Given the description of an element on the screen output the (x, y) to click on. 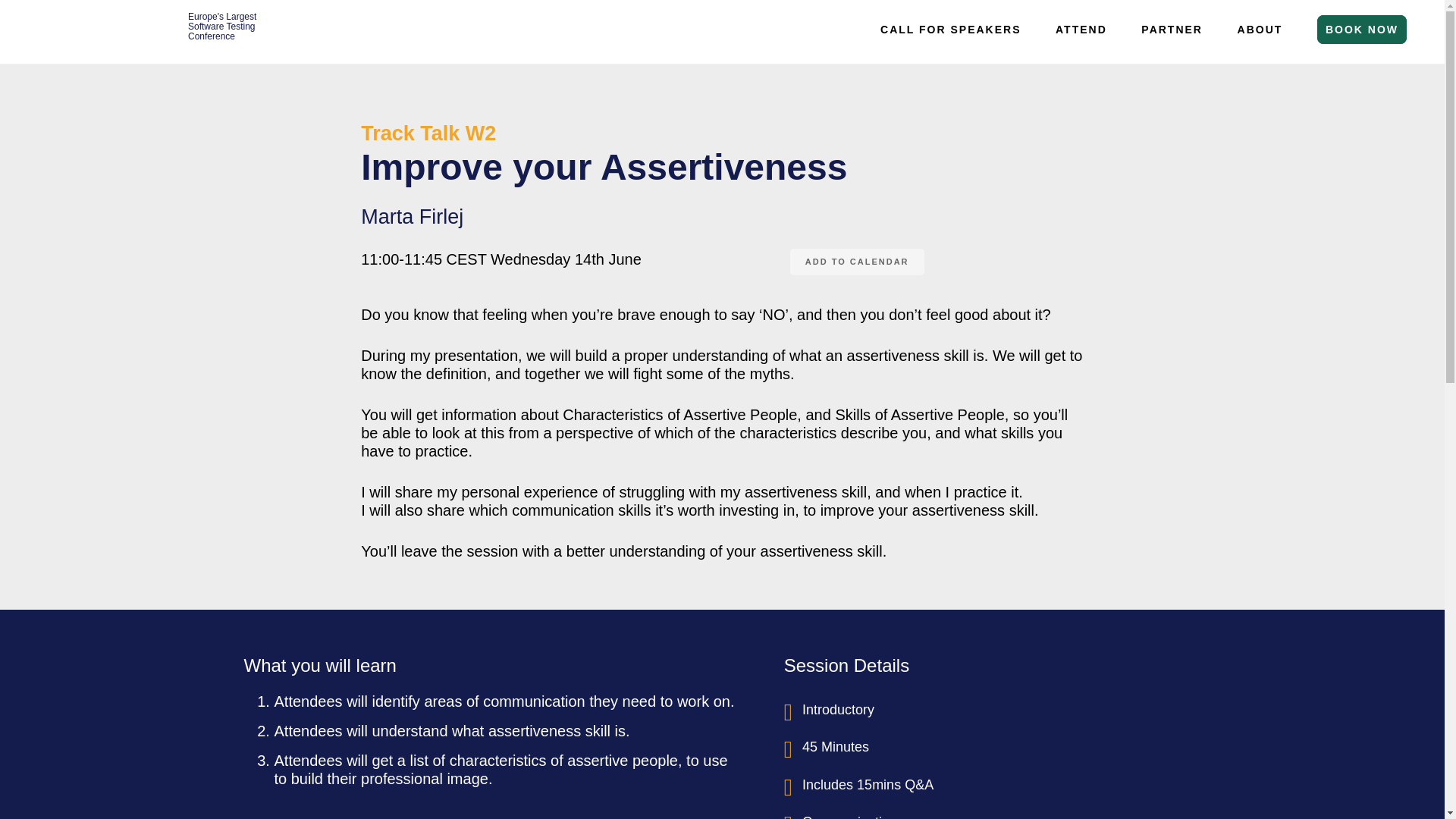
BOOK NOW (1361, 29)
CALL FOR SPEAKERS (949, 29)
ATTEND (1081, 29)
EUROSTAR CONFERENCE (98, 35)
Add To Calendar (857, 261)
Add To Calendar (857, 261)
ABOUT (1260, 29)
PARTNER (1171, 29)
